Given the description of an element on the screen output the (x, y) to click on. 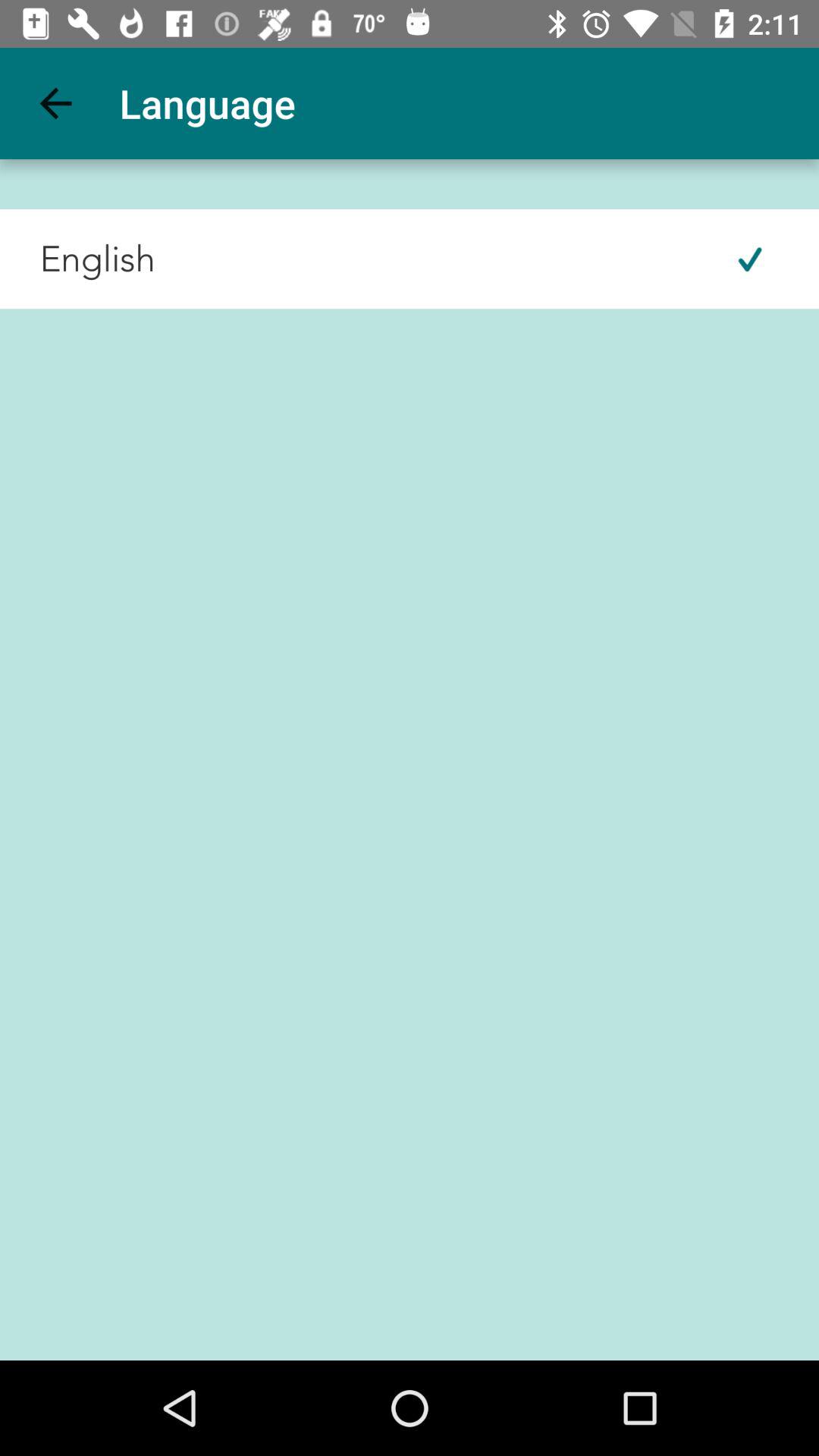
launch the icon next to the english icon (749, 258)
